Given the description of an element on the screen output the (x, y) to click on. 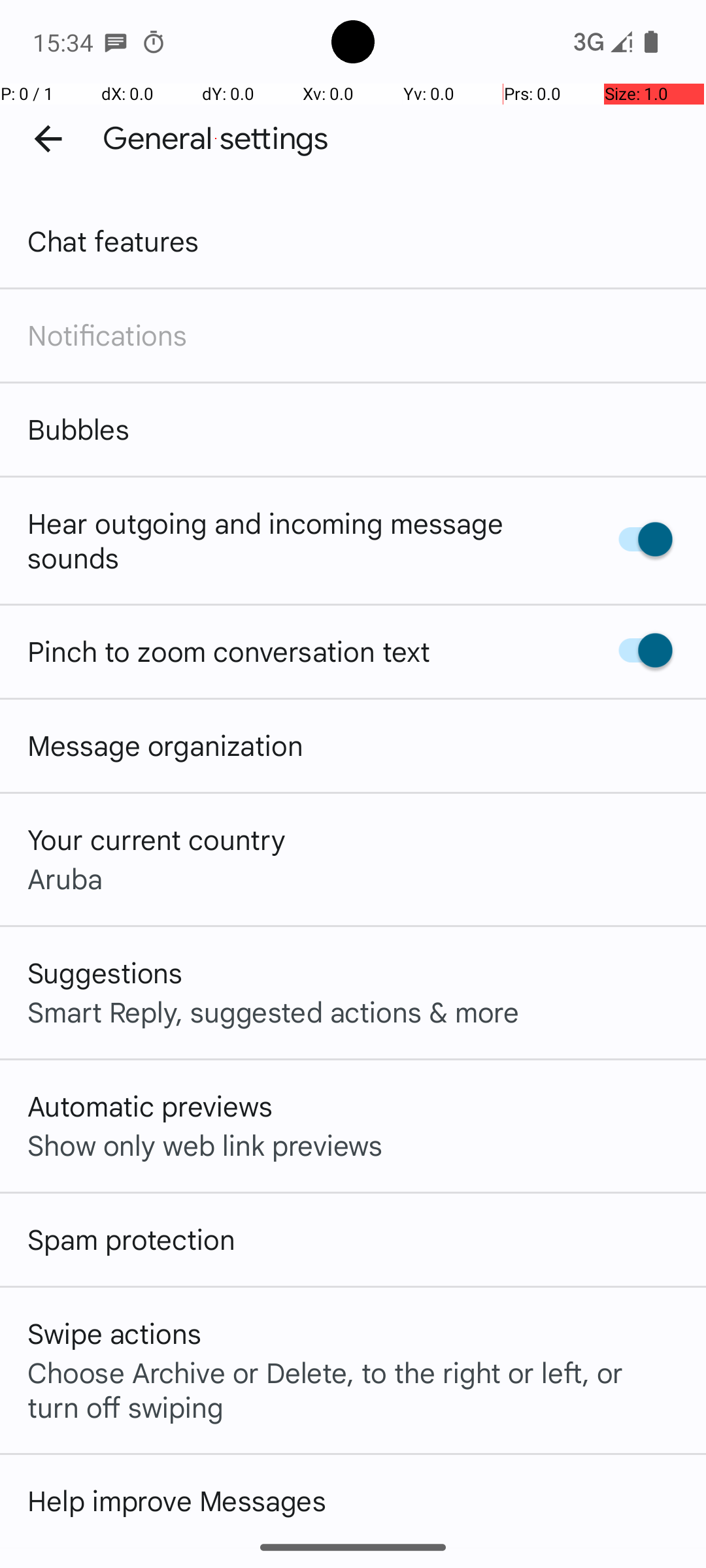
Chat features Element type: android.widget.TextView (113, 240)
Hear outgoing and incoming message sounds Element type: android.widget.TextView (299, 539)
Pinch to zoom conversation text Element type: android.widget.TextView (228, 650)
Message organization Element type: android.widget.TextView (165, 744)
Your current country Element type: android.widget.TextView (156, 838)
Aruba Element type: android.widget.TextView (64, 877)
Smart Reply, suggested actions & more Element type: android.widget.TextView (273, 1010)
Automatic previews Element type: android.widget.TextView (149, 1105)
Show only web link previews Element type: android.widget.TextView (205, 1144)
Spam protection Element type: android.widget.TextView (131, 1238)
Swipe actions Element type: android.widget.TextView (114, 1332)
Choose Archive or Delete, to the right or left, or turn off swiping Element type: android.widget.TextView (352, 1388)
Help improve Messages Element type: android.widget.TextView (176, 1499)
